Given the description of an element on the screen output the (x, y) to click on. 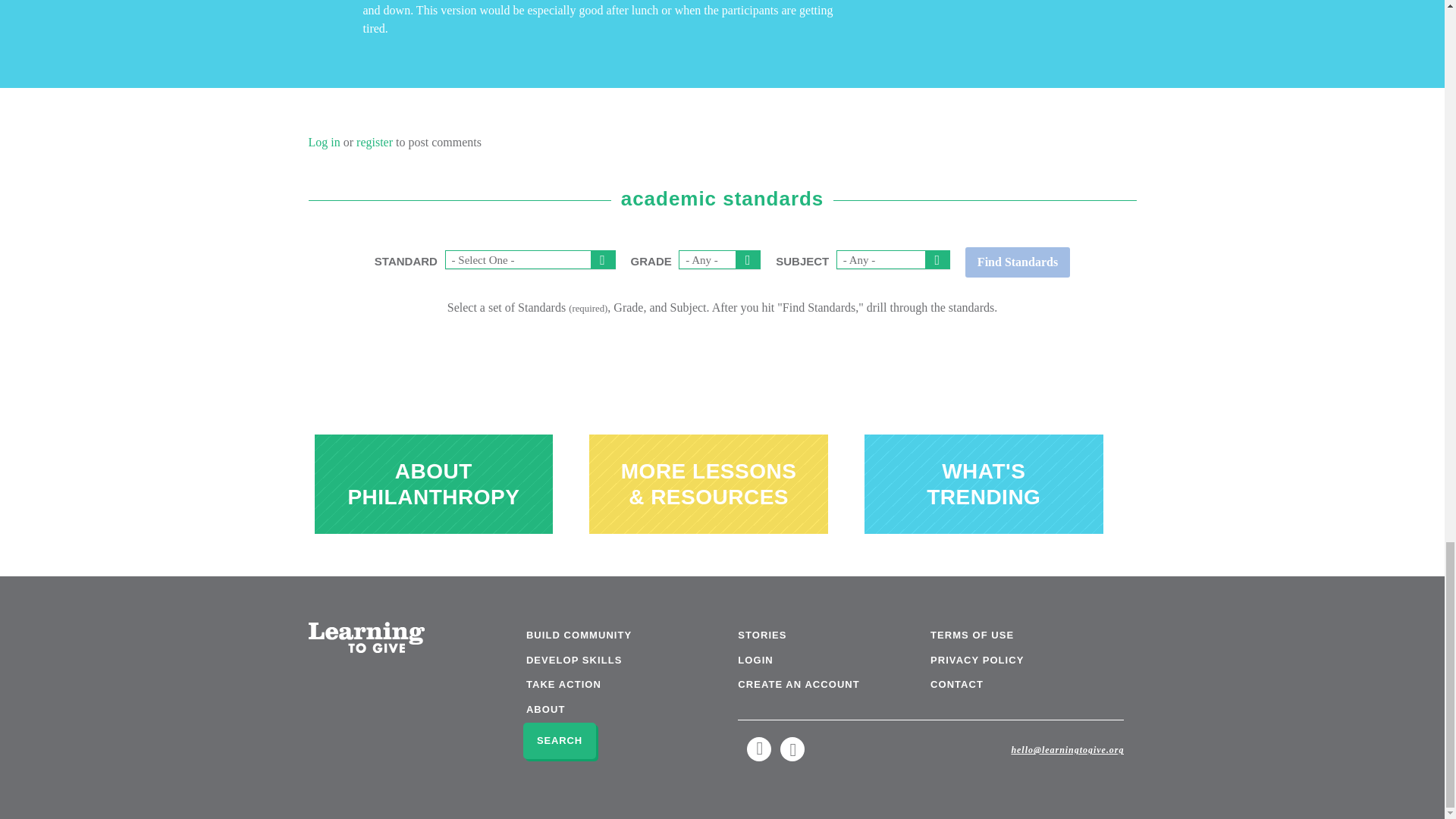
Find Standards (1017, 262)
